Given the description of an element on the screen output the (x, y) to click on. 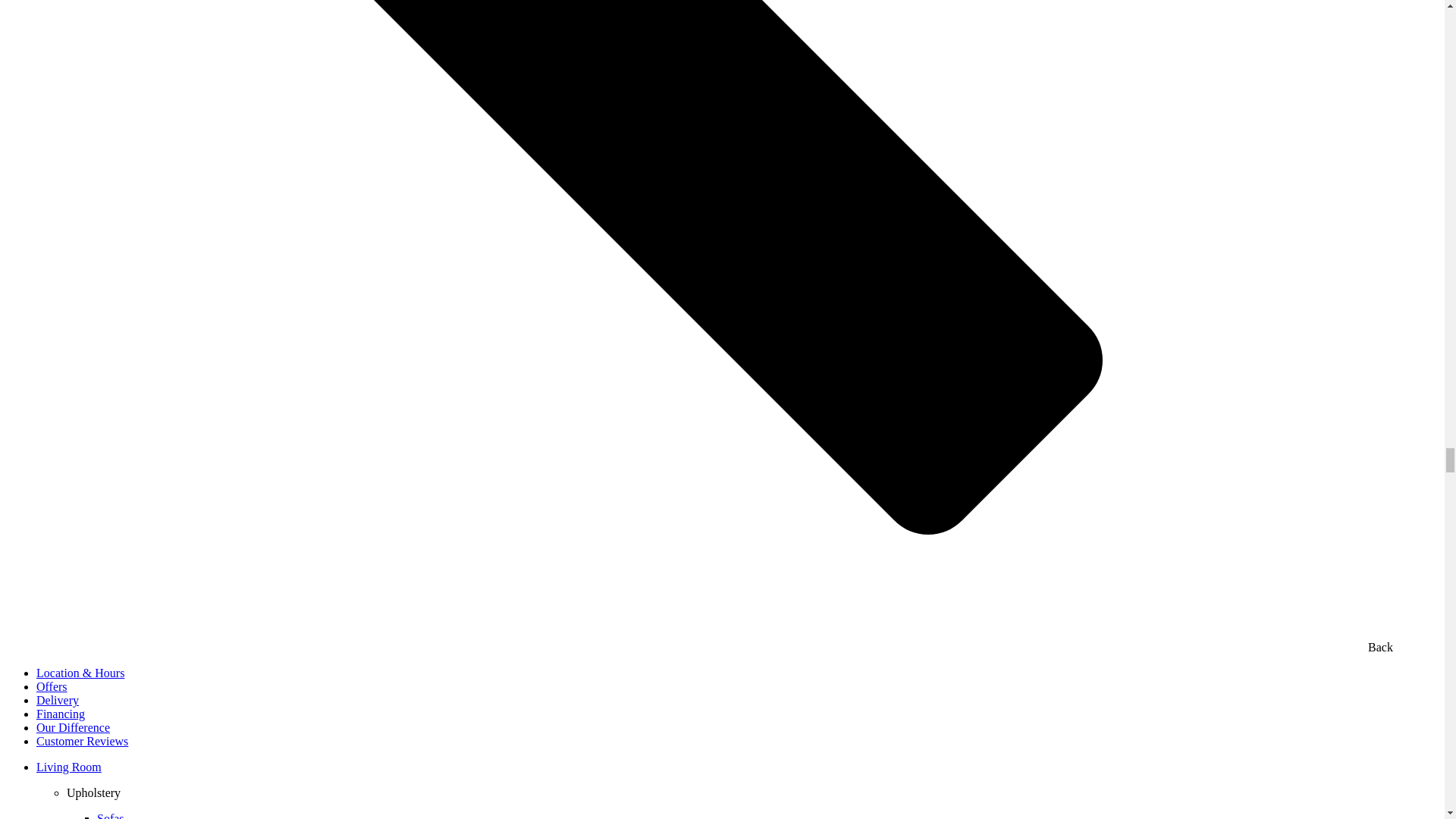
Customer Reviews (82, 740)
Delivery (57, 699)
Offers (51, 686)
Living Room (68, 766)
Sofas (110, 815)
Financing (60, 713)
Our Difference (73, 727)
